Given the description of an element on the screen output the (x, y) to click on. 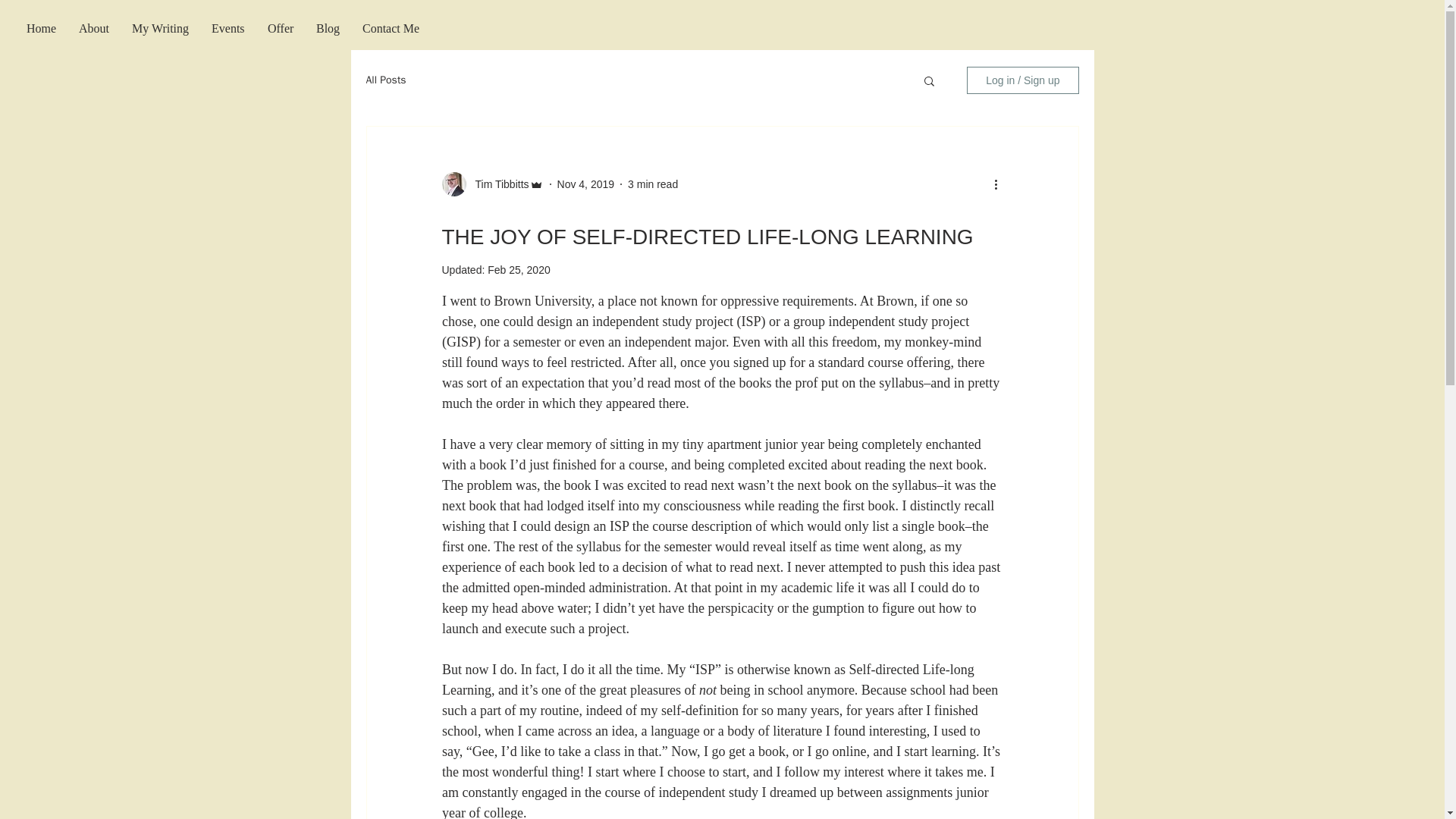
Home (40, 28)
Nov 4, 2019 (585, 183)
Tim Tibbitts (496, 183)
Contact Me (390, 28)
Feb 25, 2020 (518, 269)
Events (228, 28)
About (93, 28)
My Writing (160, 28)
All Posts (385, 79)
3 min read (652, 183)
Offer (280, 28)
Blog (327, 28)
